Given the description of an element on the screen output the (x, y) to click on. 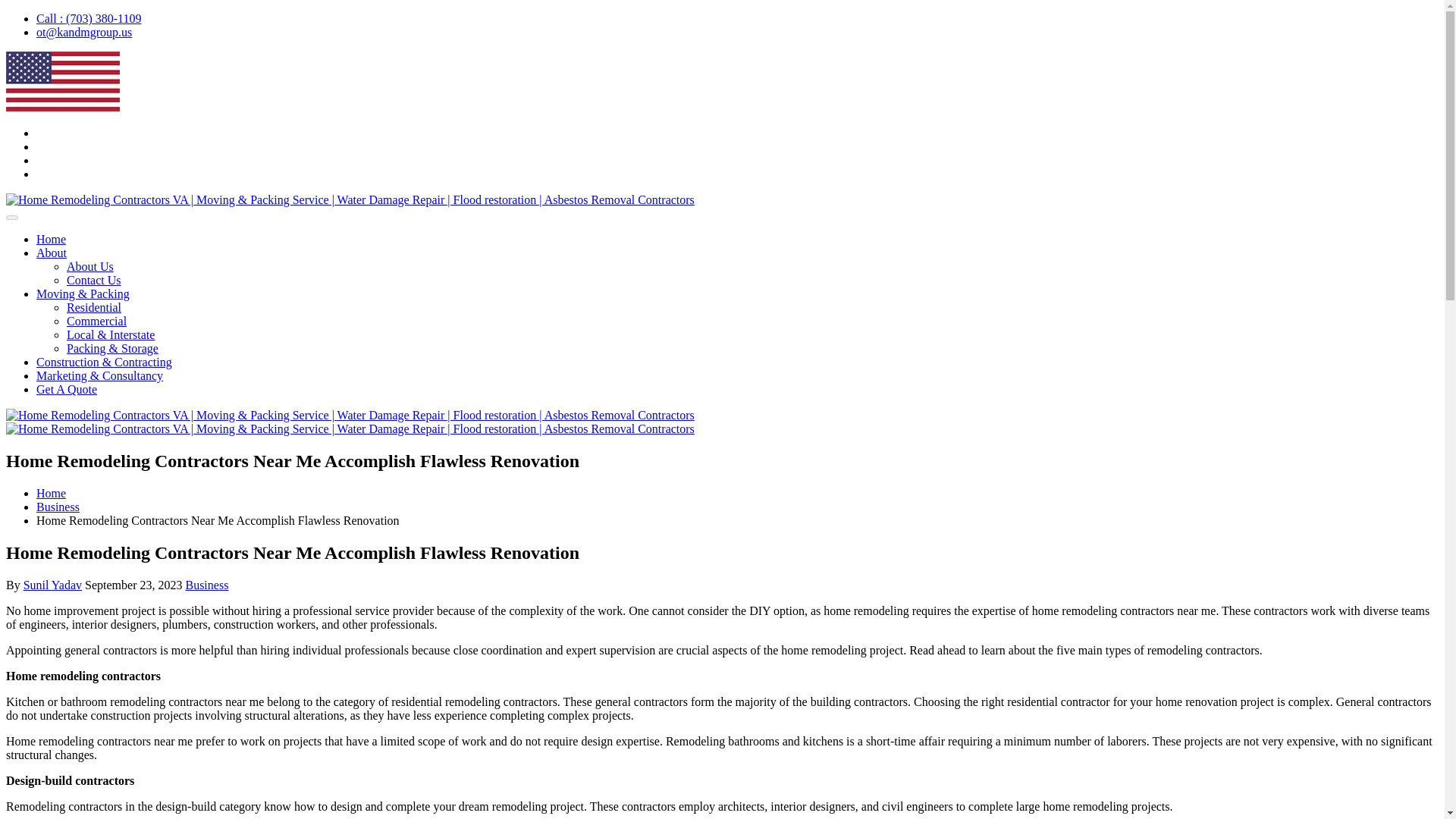
Home (50, 492)
Get A Quote (66, 389)
Business (206, 584)
Home (50, 492)
Commercial (96, 320)
Business (58, 506)
Home (50, 238)
About (51, 252)
Sunil Yadav (52, 584)
